Given the description of an element on the screen output the (x, y) to click on. 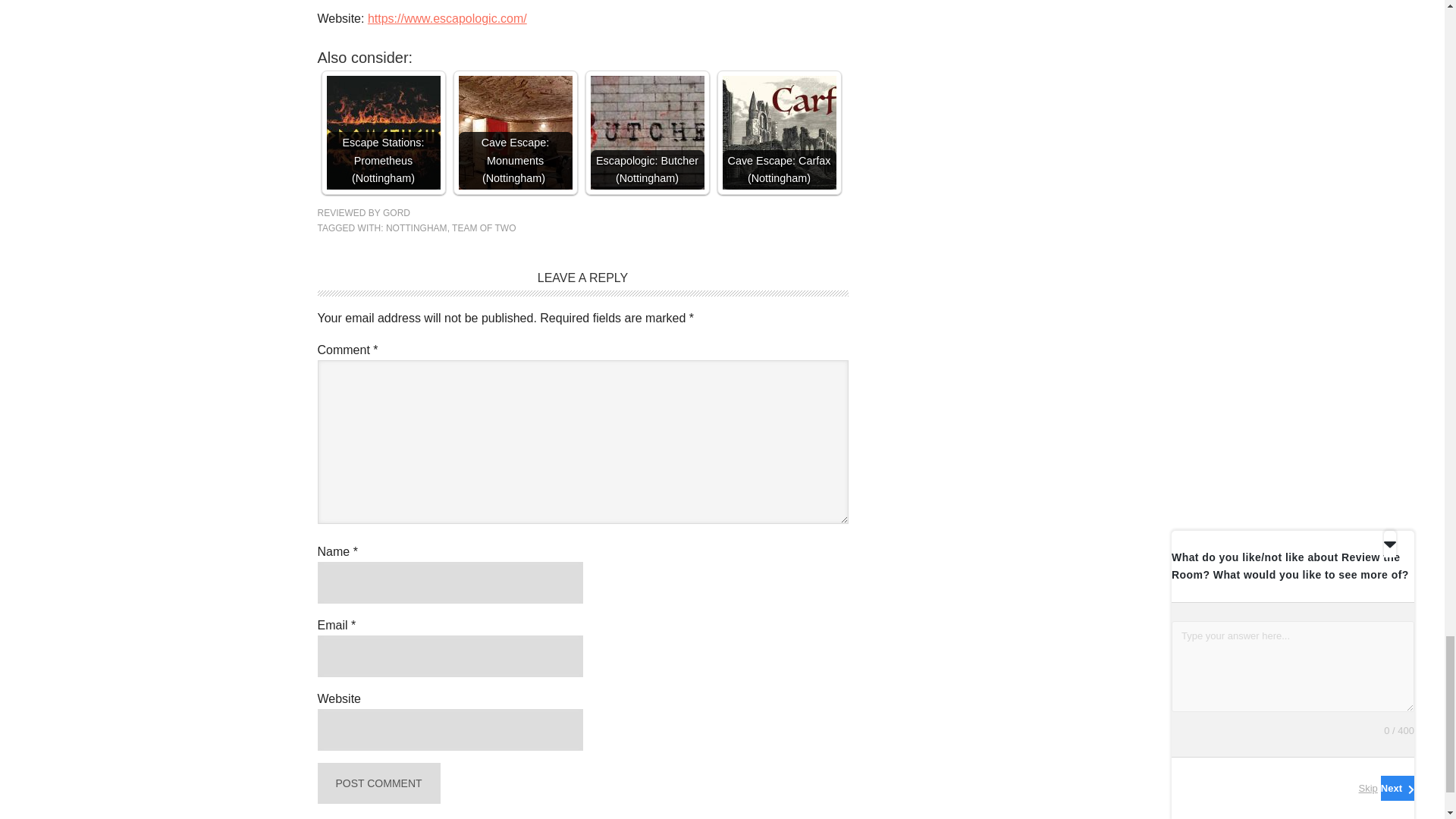
Post Comment (378, 783)
